Given the description of an element on the screen output the (x, y) to click on. 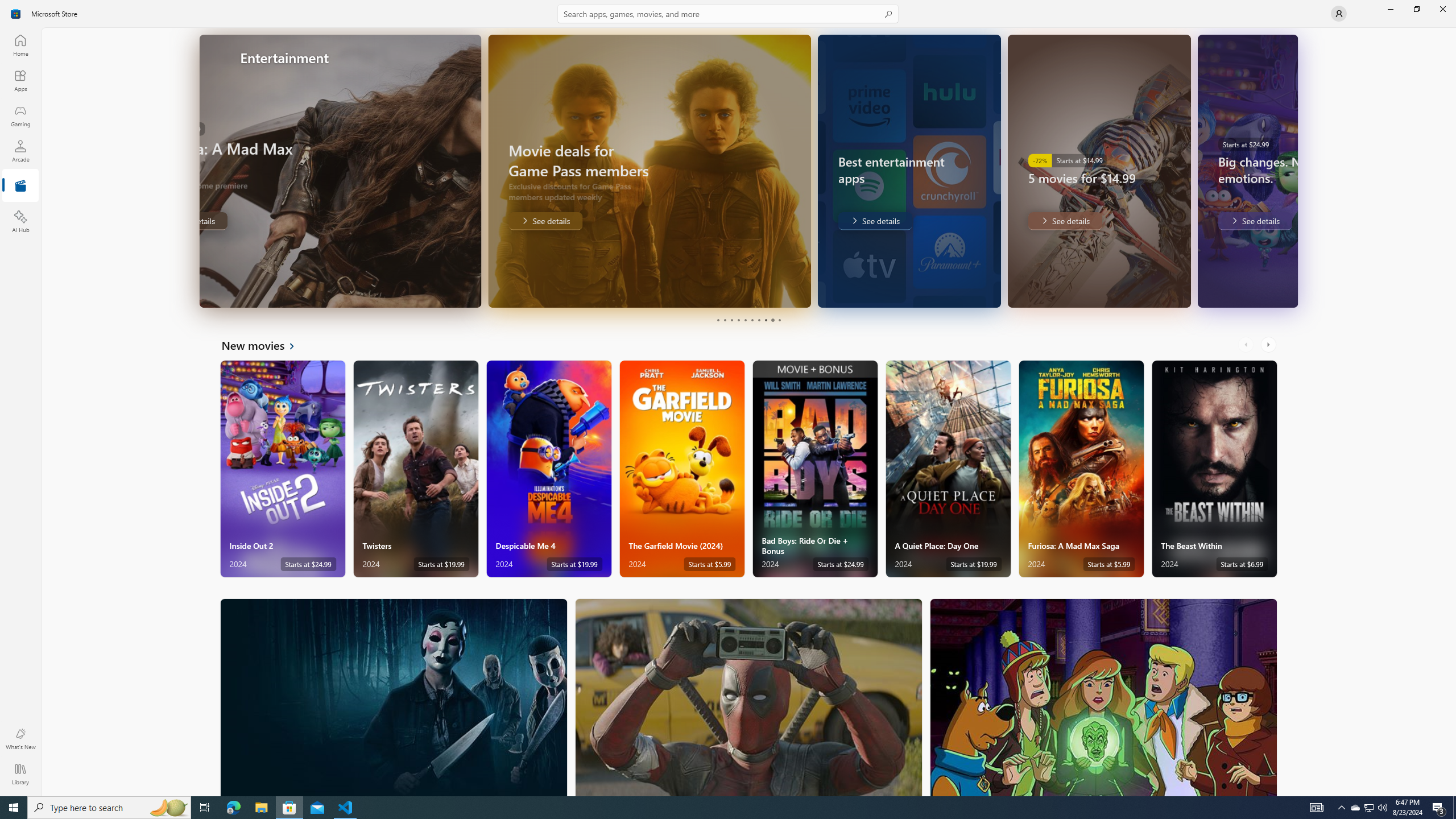
Bad Boys: Ride Or Die + Bonus. Starts at $24.99   (814, 469)
Page 5 (744, 319)
AutomationID: NavigationControl (728, 398)
Horror (393, 697)
Unmute (1261, 291)
The Beast Within. Starts at $6.99   (1213, 469)
Page 9 (772, 319)
Page 8 (764, 319)
